Given the description of an element on the screen output the (x, y) to click on. 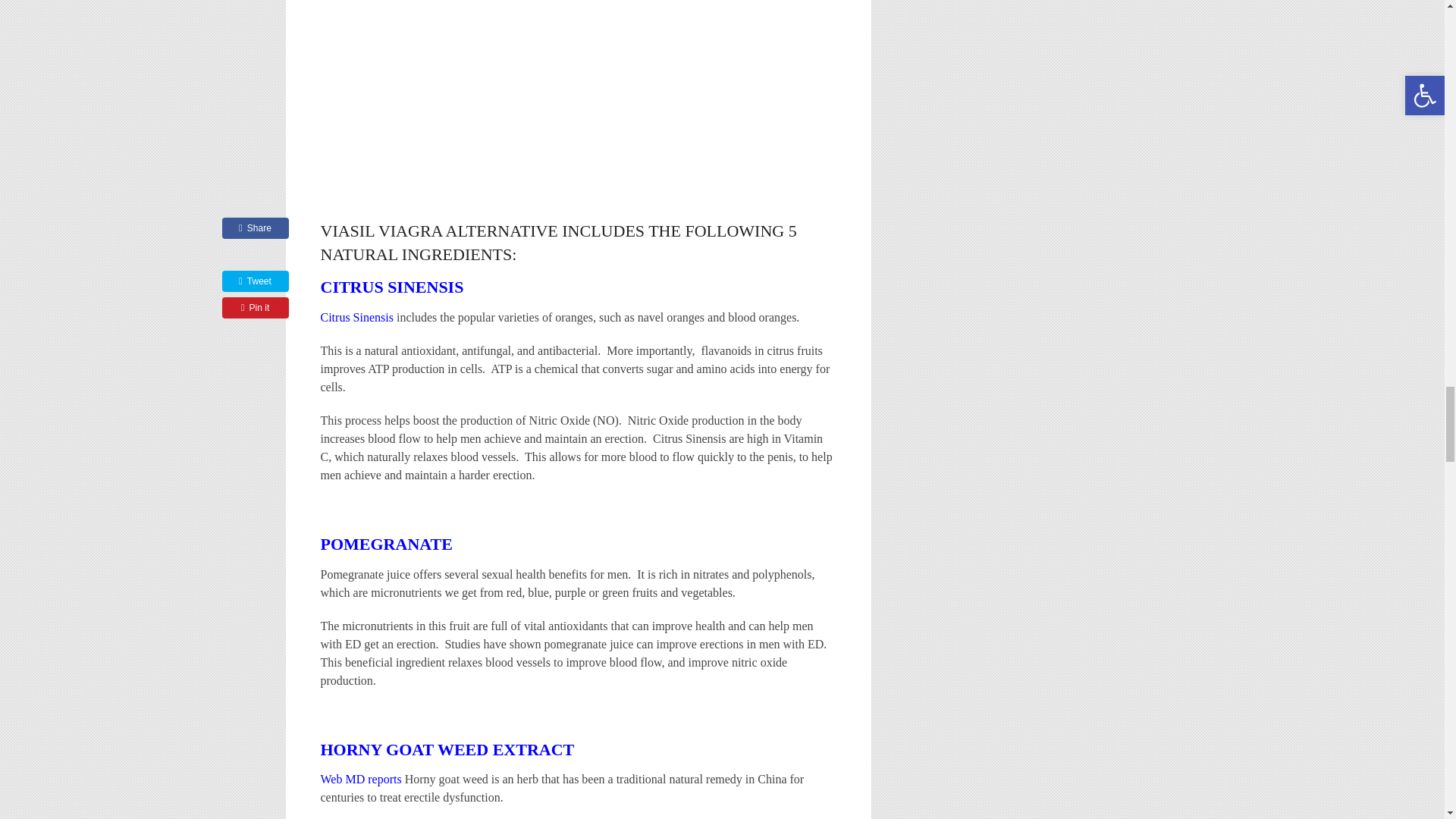
Viasil (566, 69)
